Given the description of an element on the screen output the (x, y) to click on. 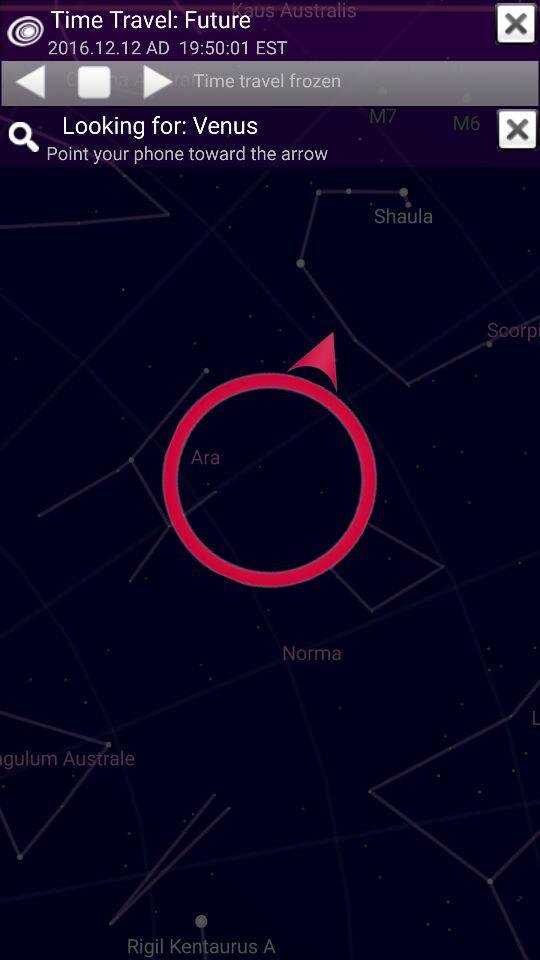
go back (29, 81)
